Given the description of an element on the screen output the (x, y) to click on. 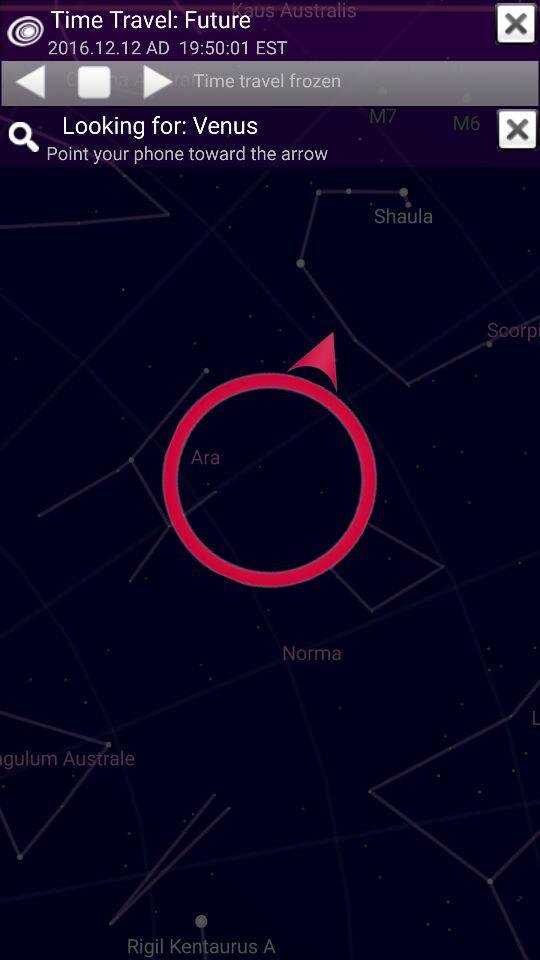
go back (29, 81)
